Given the description of an element on the screen output the (x, y) to click on. 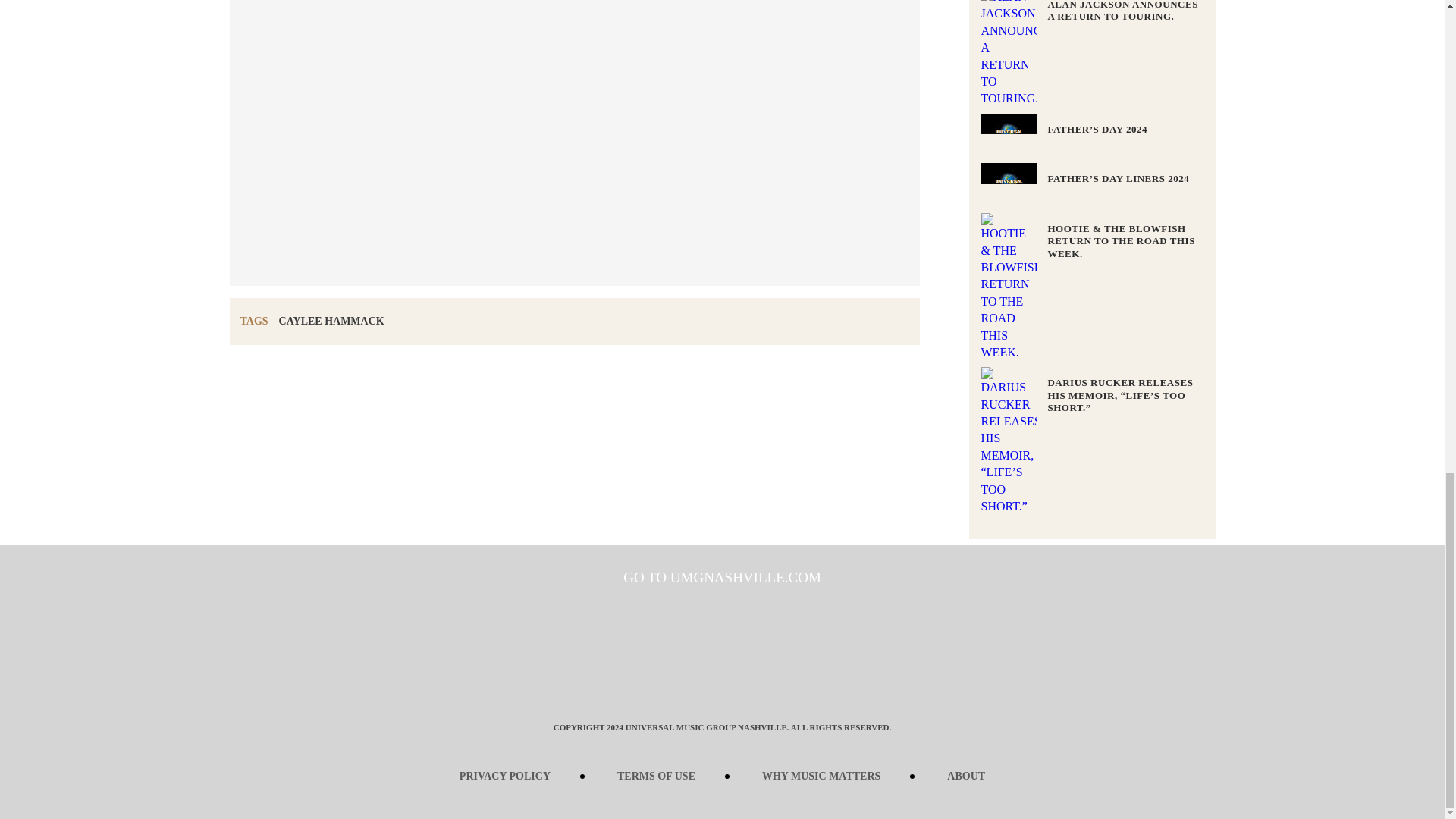
GO TO UMGNASHVILLE.COM (721, 577)
PRIVACY POLICY (505, 776)
WHY MUSIC MATTERS (821, 776)
Twitter (699, 684)
Facebook (652, 684)
YouTube (792, 684)
ALAN JACKSON ANNOUNCES A RETURN TO TOURING. (1122, 11)
TERMS OF USE (655, 776)
CAYLEE HAMMACK (331, 320)
ABOUT (965, 776)
